Given the description of an element on the screen output the (x, y) to click on. 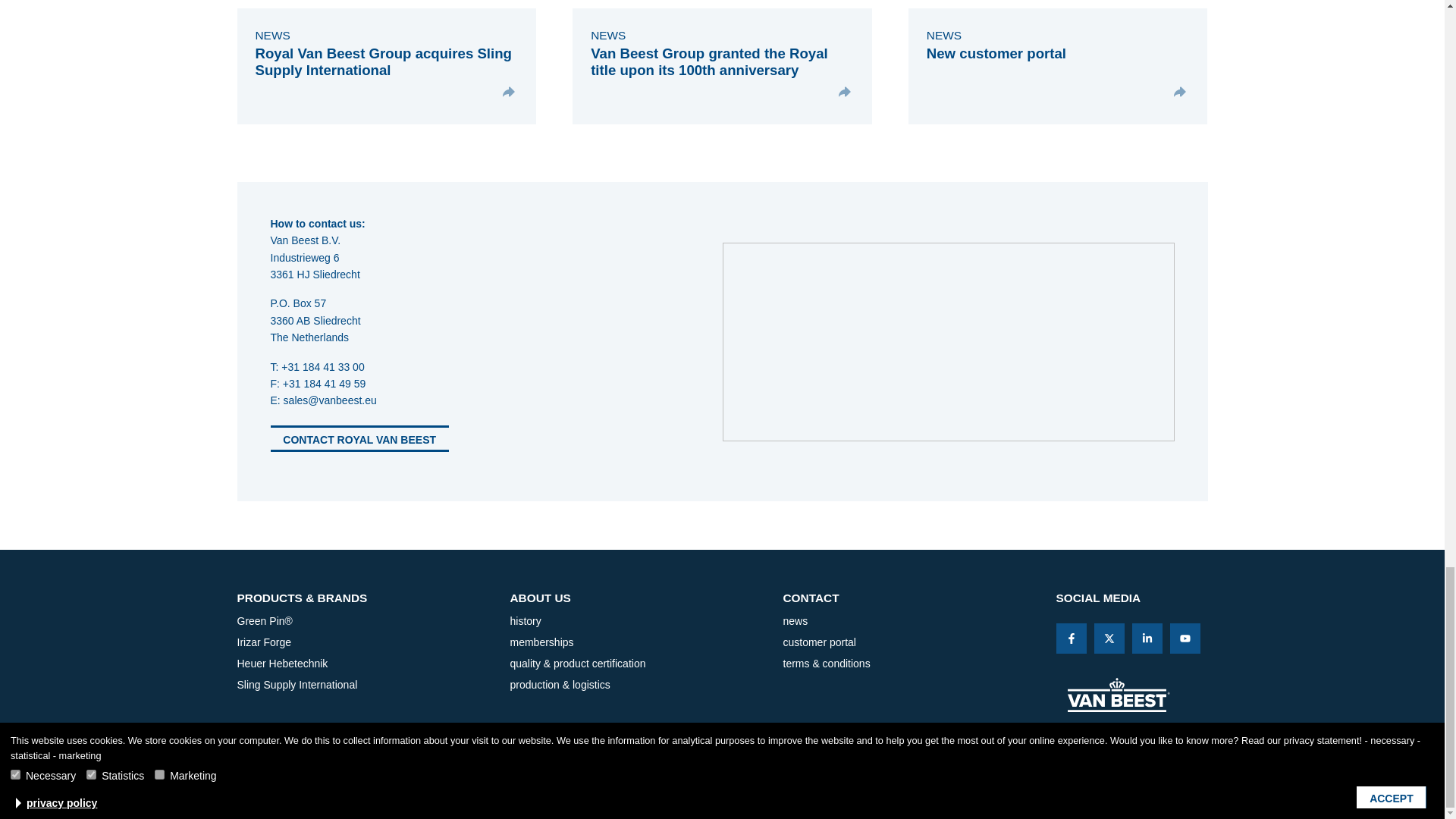
CONTACT ROYAL VAN BEEST (358, 438)
YouTube (1184, 638)
shareLink (1108, 638)
contact (914, 597)
about us (640, 597)
Facebook (1070, 638)
LinkedIn (1146, 638)
Royal Van Beest Group acquires Sling Supply International (382, 61)
New customer portal (995, 53)
